Given the description of an element on the screen output the (x, y) to click on. 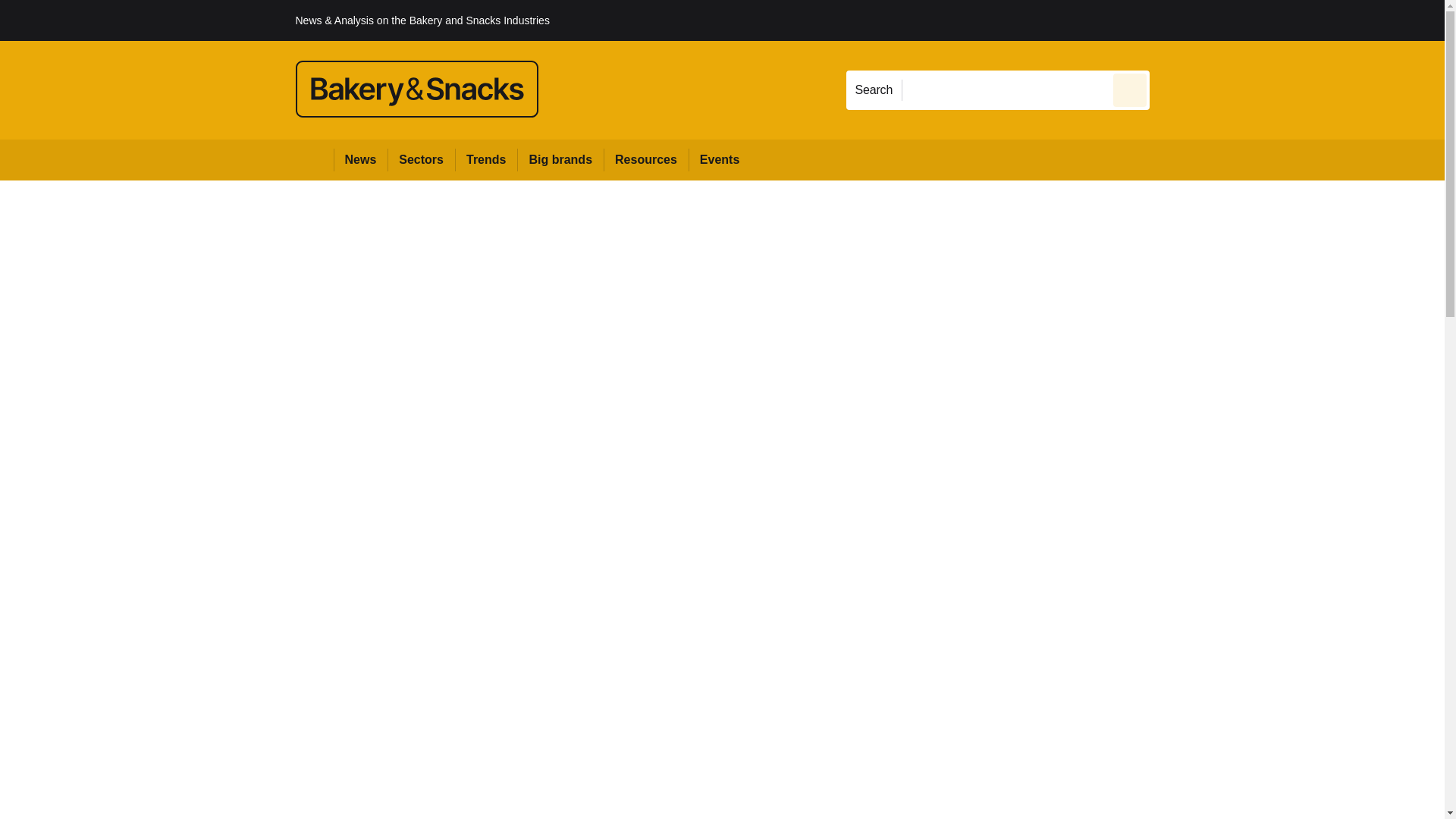
Sign out (1174, 20)
Sign in (1171, 20)
Home (314, 159)
My account (1256, 20)
Send (1129, 90)
News (360, 159)
Send (1129, 89)
REGISTER (1250, 20)
Home (313, 159)
Sectors (420, 159)
